Given the description of an element on the screen output the (x, y) to click on. 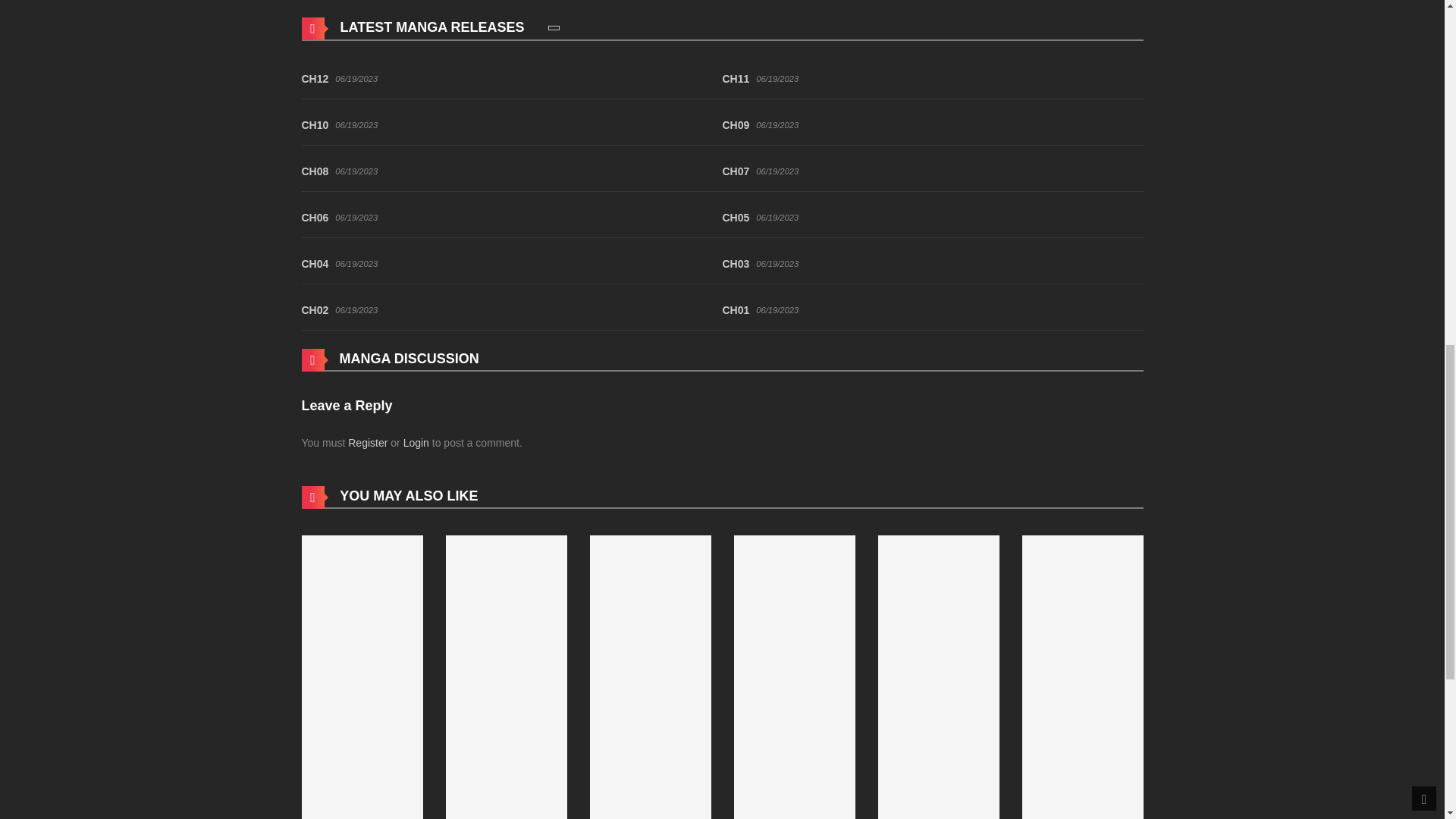
The Female Lead Acquires Cheat Skills (650, 715)
One Point (937, 715)
God of Cooking (362, 715)
A streamer in the Past (794, 715)
Change Order (553, 27)
